Given the description of an element on the screen output the (x, y) to click on. 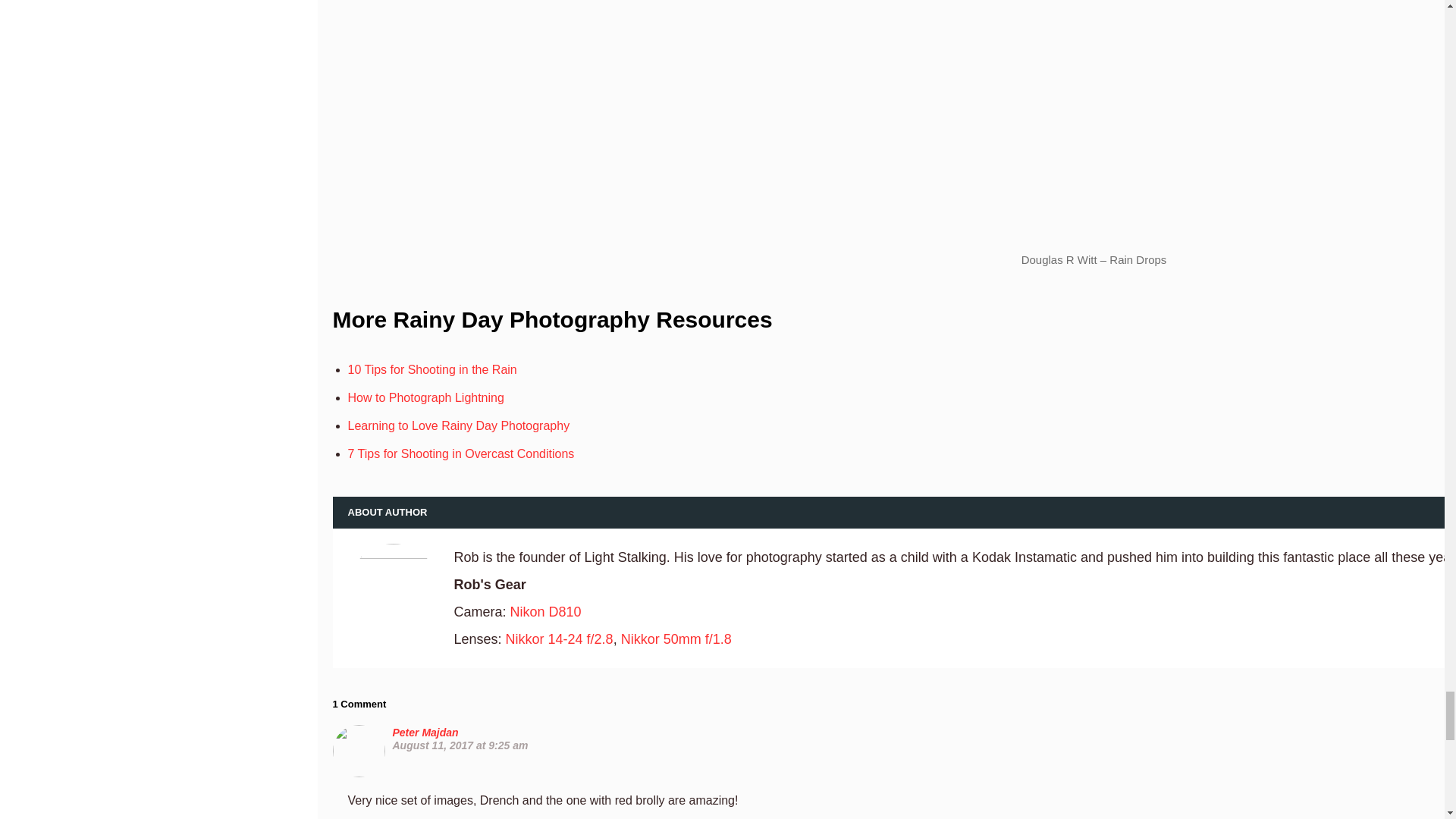
August 11, 2017 at 9:25 am (460, 745)
